Given the description of an element on the screen output the (x, y) to click on. 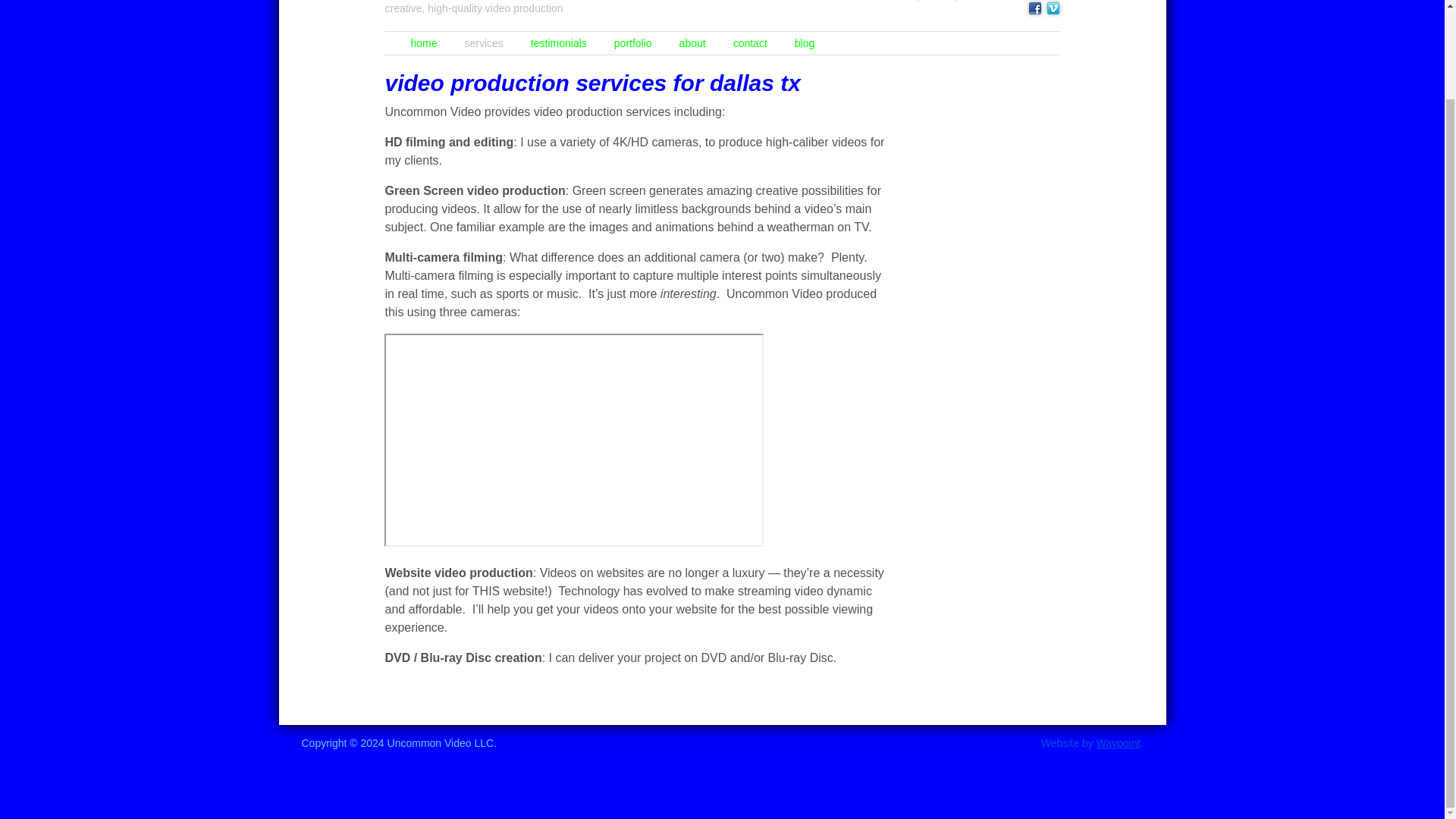
Like Us on Facebook (1036, 7)
Home (422, 42)
blog (804, 42)
home (422, 42)
Services (483, 42)
portfolio (632, 42)
testimonials (557, 42)
services (483, 42)
See us on Vimeo (1052, 7)
Waypoint Web Design (1118, 743)
